Given the description of an element on the screen output the (x, y) to click on. 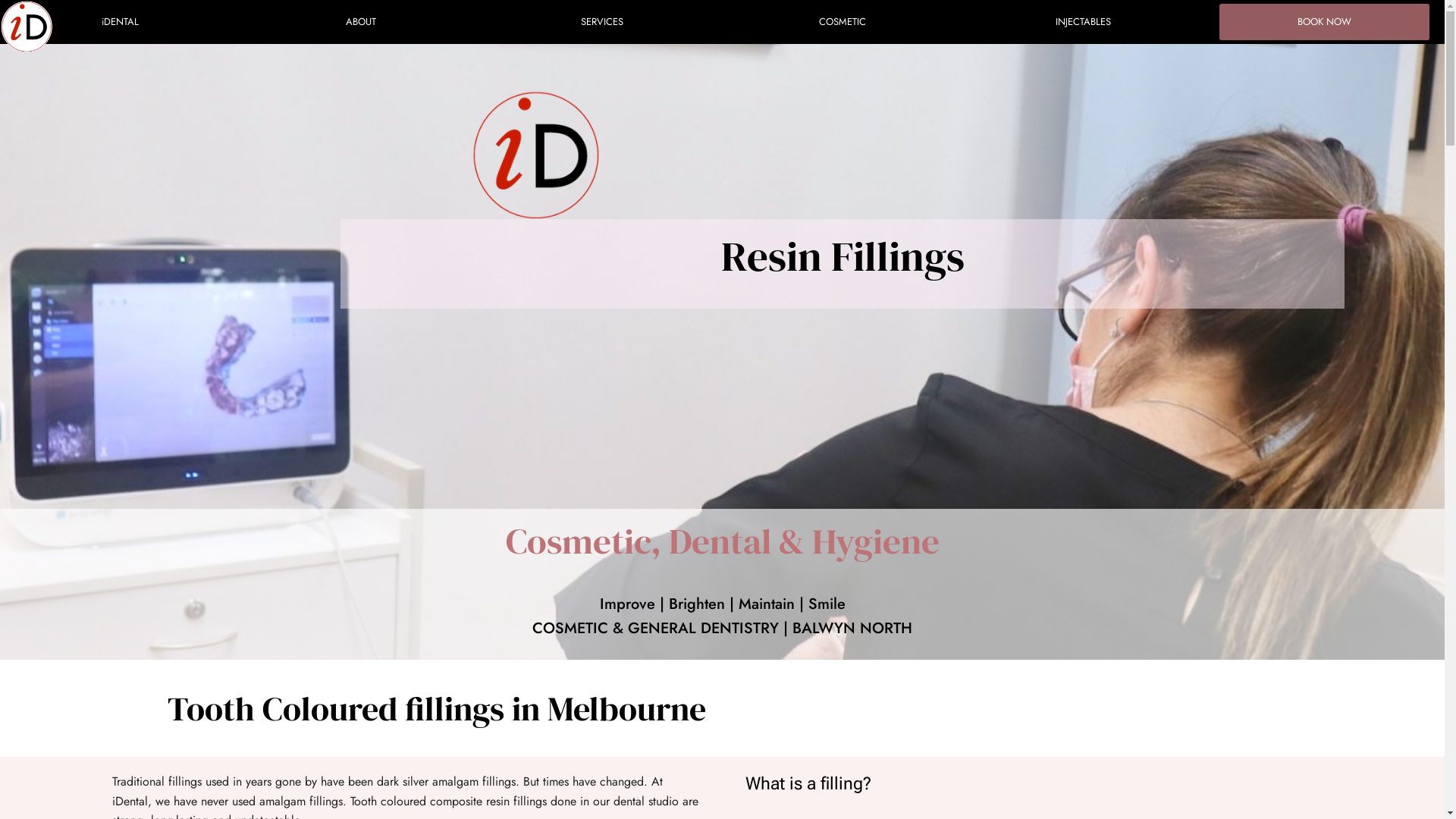
BOOK NOW Element type: text (1325, 17)
ABOUT Element type: text (361, 21)
WELCOME Element type: hover (37, 26)
COSMETIC Element type: text (842, 21)
INJECTABLES Element type: text (1083, 21)
SERVICES Element type: text (601, 21)
BOOK NOW Element type: text (1324, 21)
iDENTAL Element type: text (120, 21)
